Given the description of an element on the screen output the (x, y) to click on. 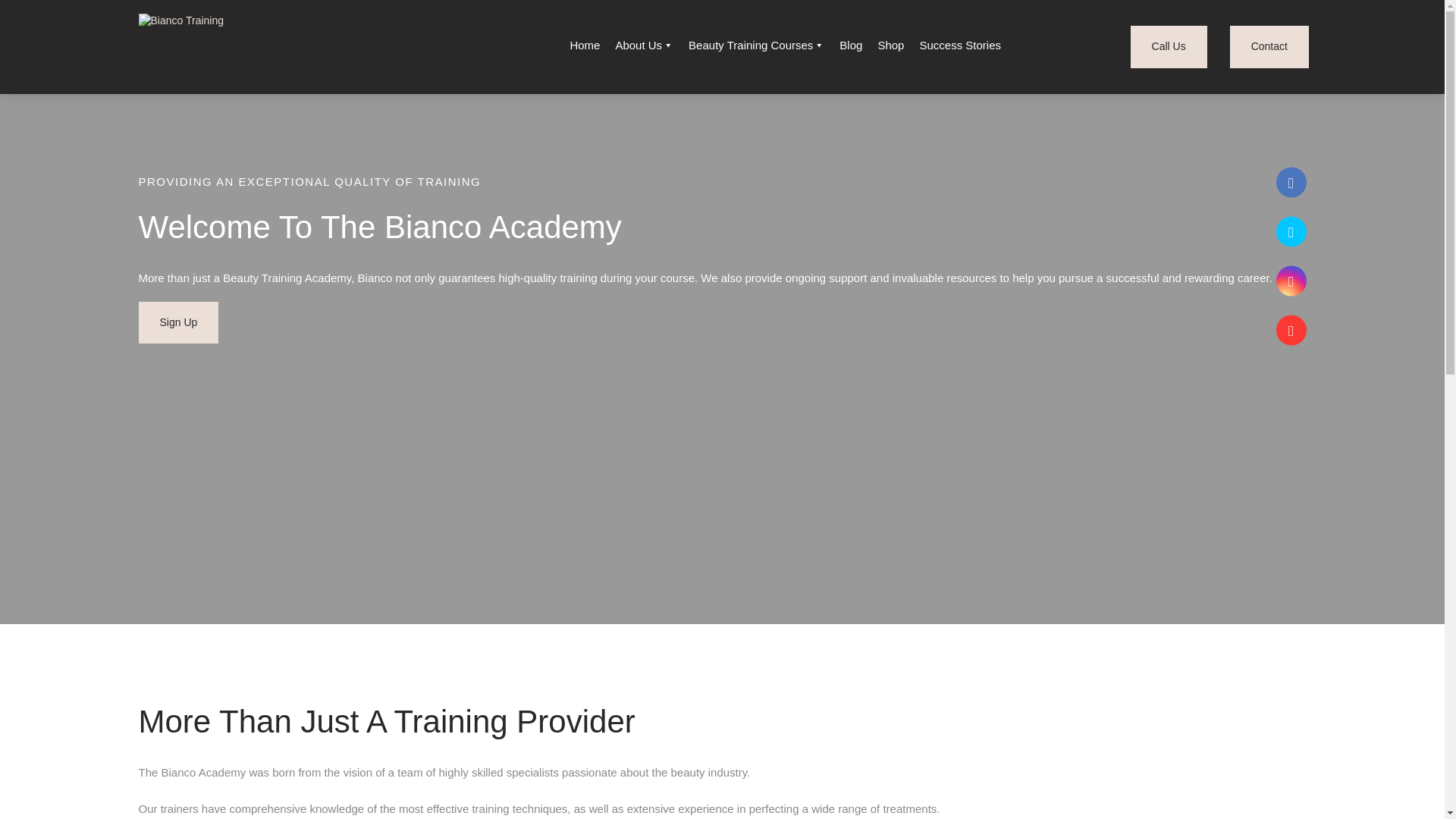
Call Us (1169, 46)
Bianco Training's Instagram (1290, 281)
Success Stories (960, 45)
Call Us (1169, 46)
Bianco Training's Twitter (1290, 232)
Sign Up (178, 322)
Beauty Training Courses (756, 45)
Sign Up (178, 322)
Bianco Training (226, 45)
About Us (644, 45)
Bianco Training's Facebook (1290, 182)
Contact (1269, 46)
Contact (1269, 46)
Bianco Training's Youtube (1290, 330)
